Given the description of an element on the screen output the (x, y) to click on. 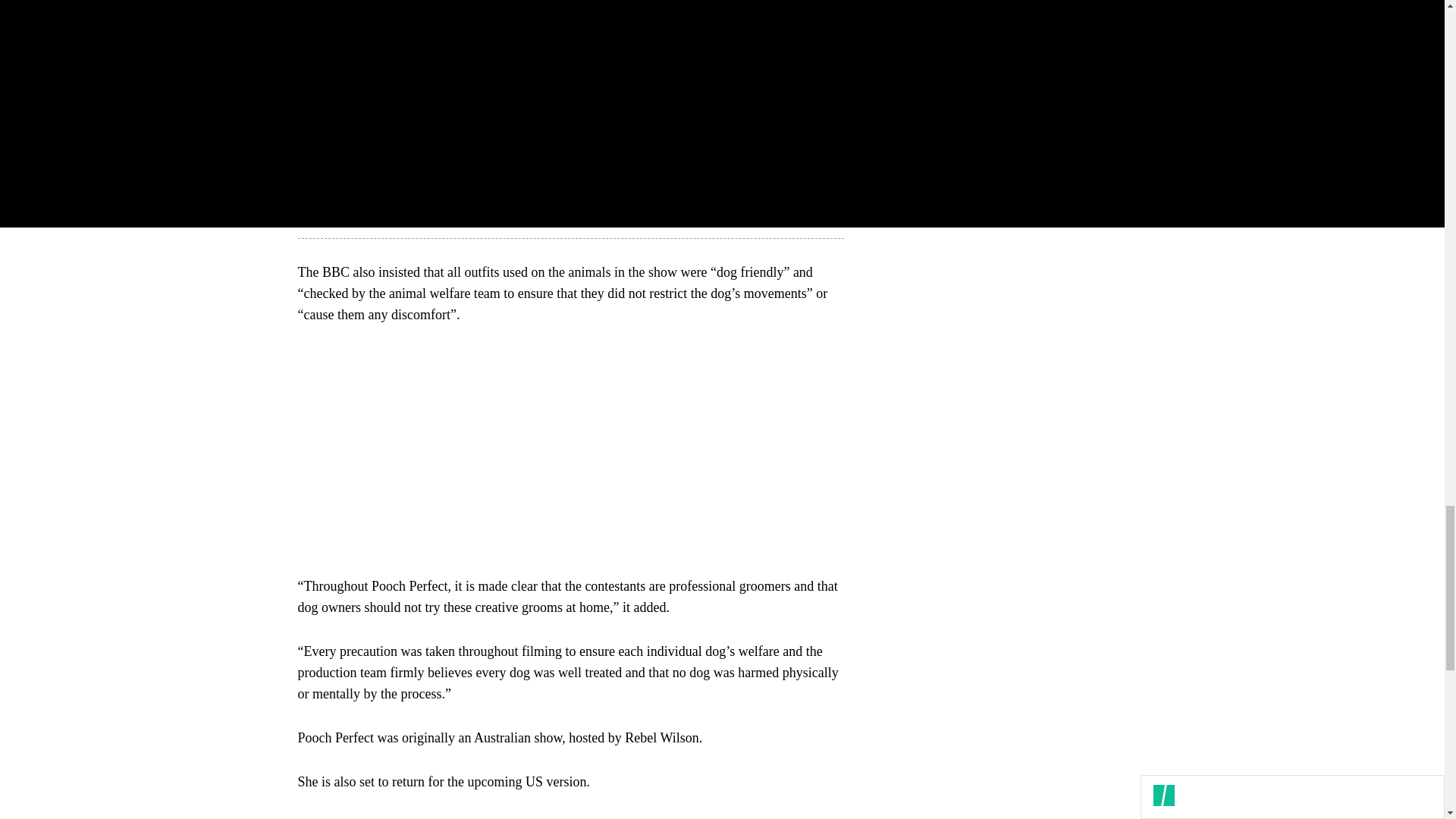
SIGN UP (1098, 75)
